Given the description of an element on the screen output the (x, y) to click on. 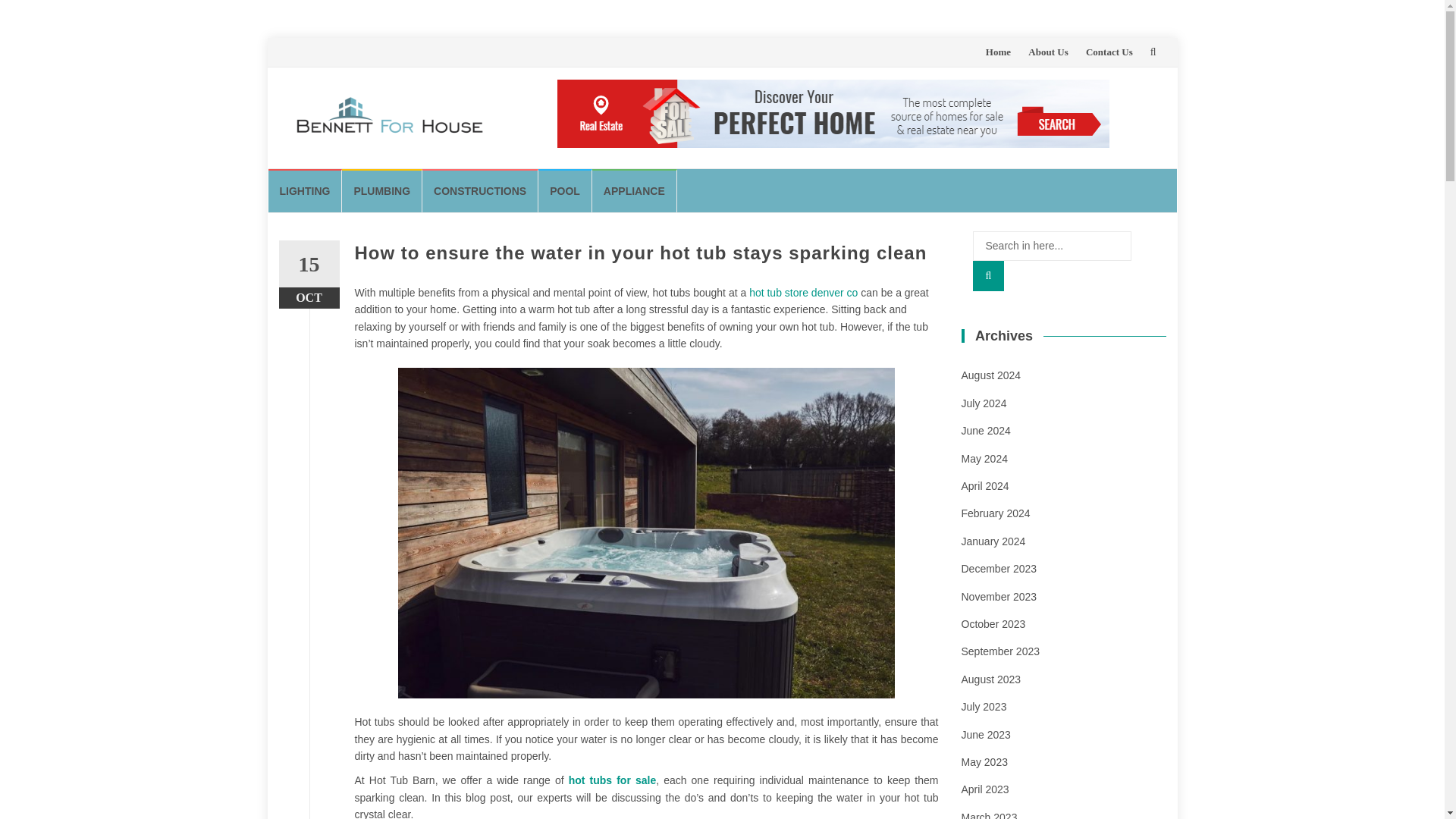
Contact Us (1109, 51)
CONSTRUCTIONS (480, 189)
Search (988, 276)
LIGHTING (304, 189)
POOL (565, 189)
About Us (1047, 51)
Home (997, 51)
